Given the description of an element on the screen output the (x, y) to click on. 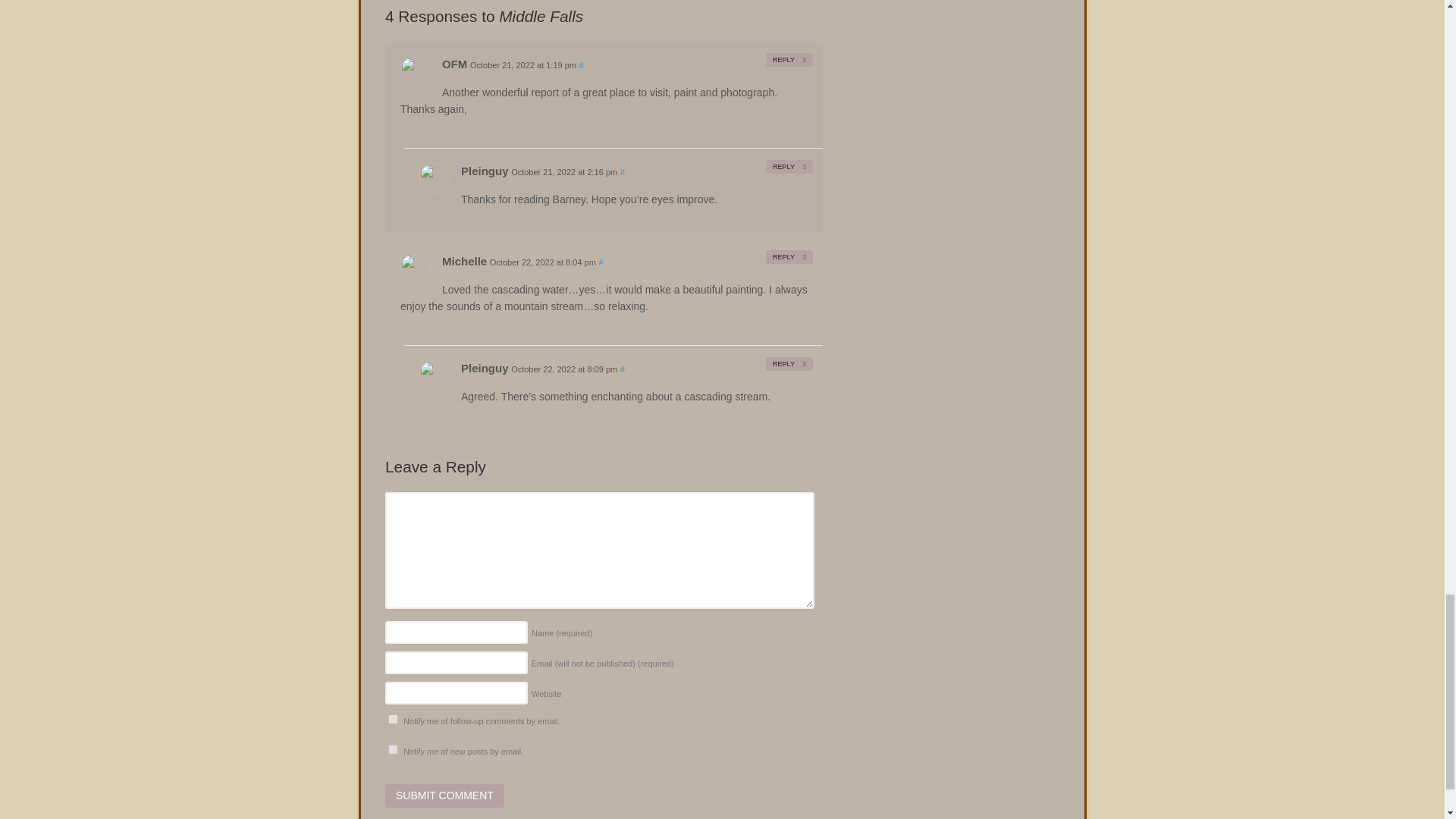
Submit Comment (444, 795)
subscribe (392, 718)
subscribe (392, 749)
